Given the description of an element on the screen output the (x, y) to click on. 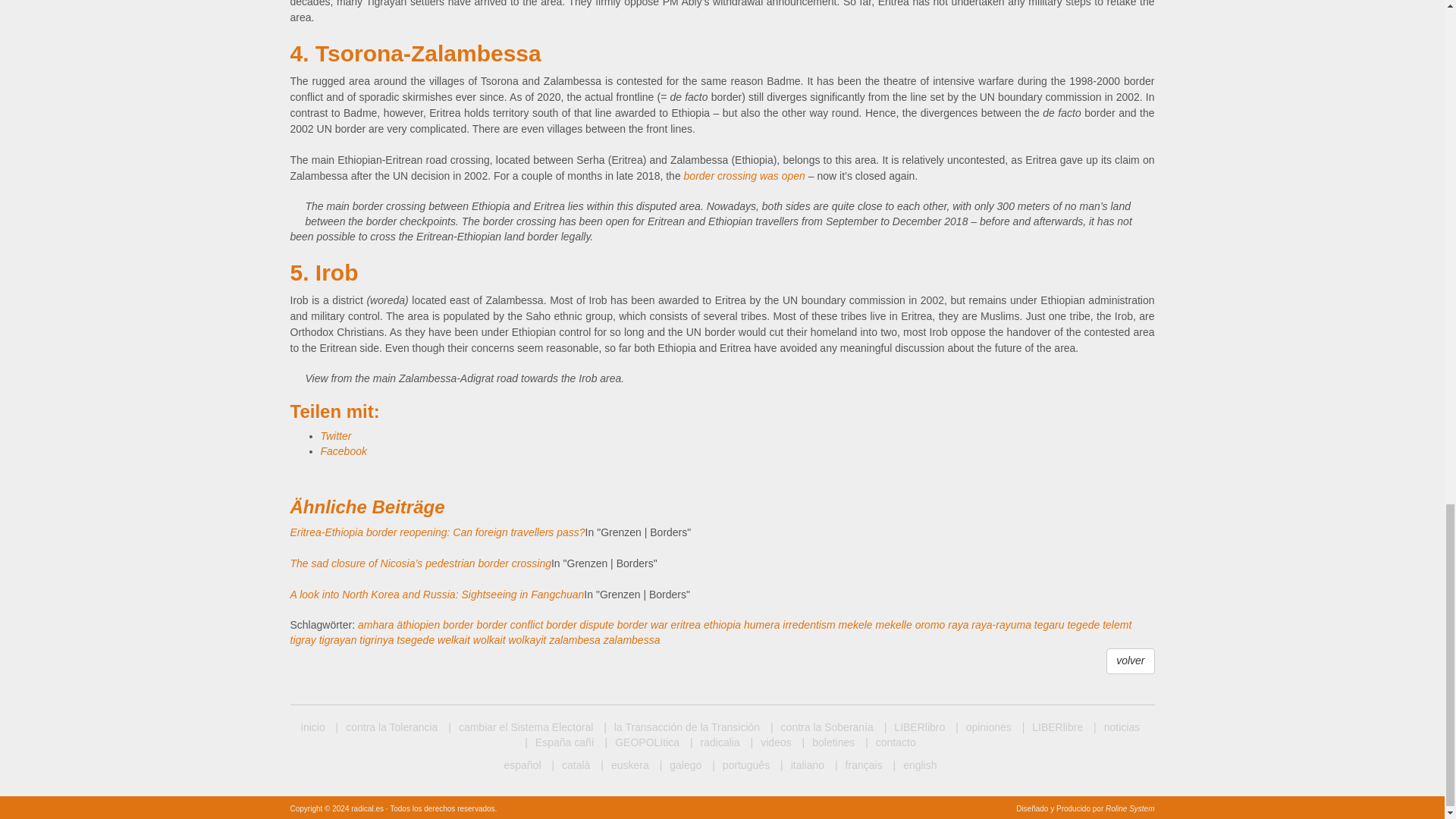
italiano (802, 765)
Klick, um auf Facebook zu teilen (343, 451)
A look into North Korea and Russia: Sightseeing in Fangchuan (436, 594)
border crossing was open (744, 175)
euskal (623, 765)
Twitter (335, 435)
galego (680, 765)
english (915, 765)
Facebook (343, 451)
RADICAL (312, 727)
contacto (889, 743)
